Given the description of an element on the screen output the (x, y) to click on. 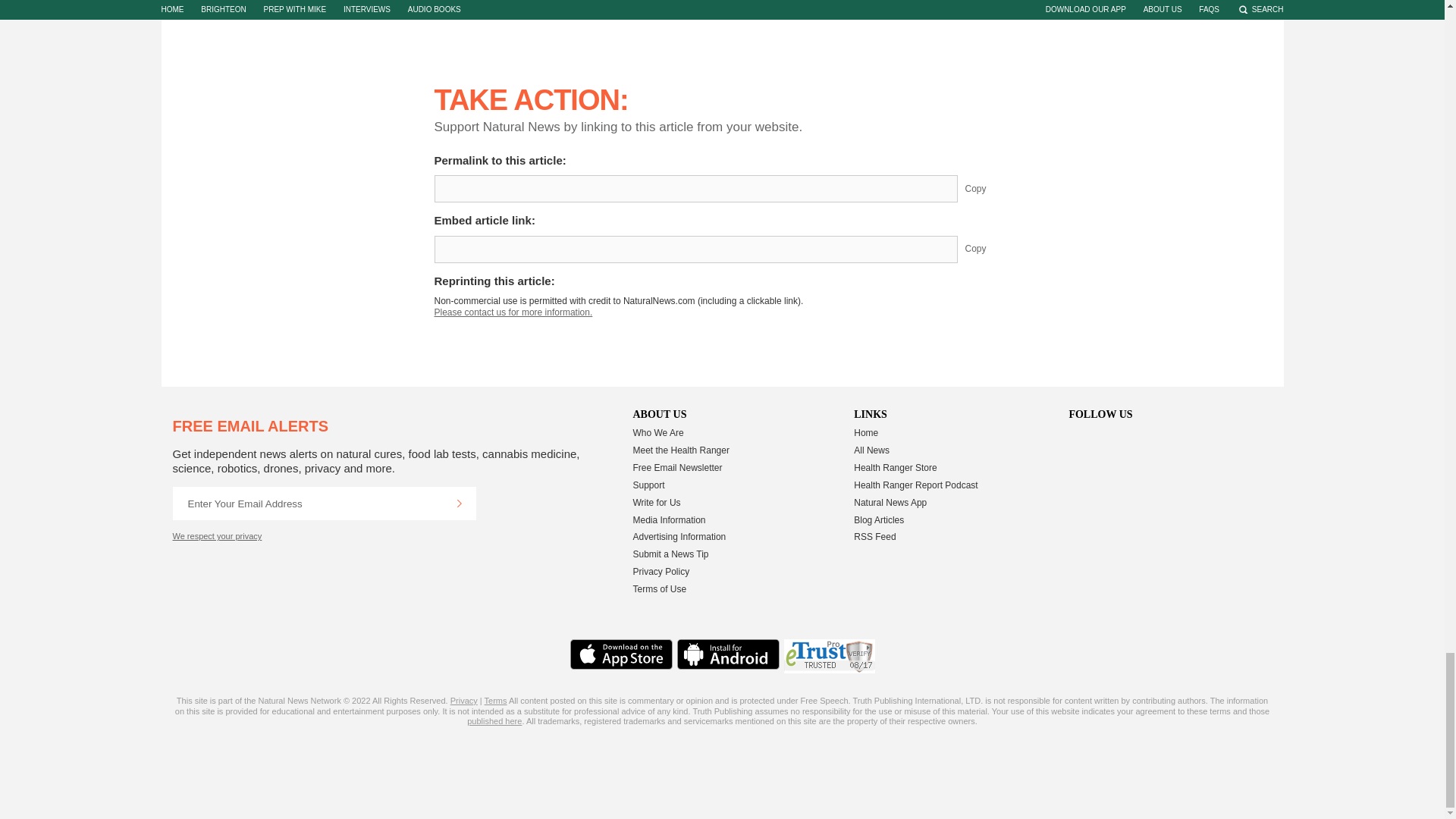
Copy Embed Link (986, 248)
Copy Permalink (986, 188)
Continue (459, 503)
eTrust Pro Certified (829, 656)
